Given the description of an element on the screen output the (x, y) to click on. 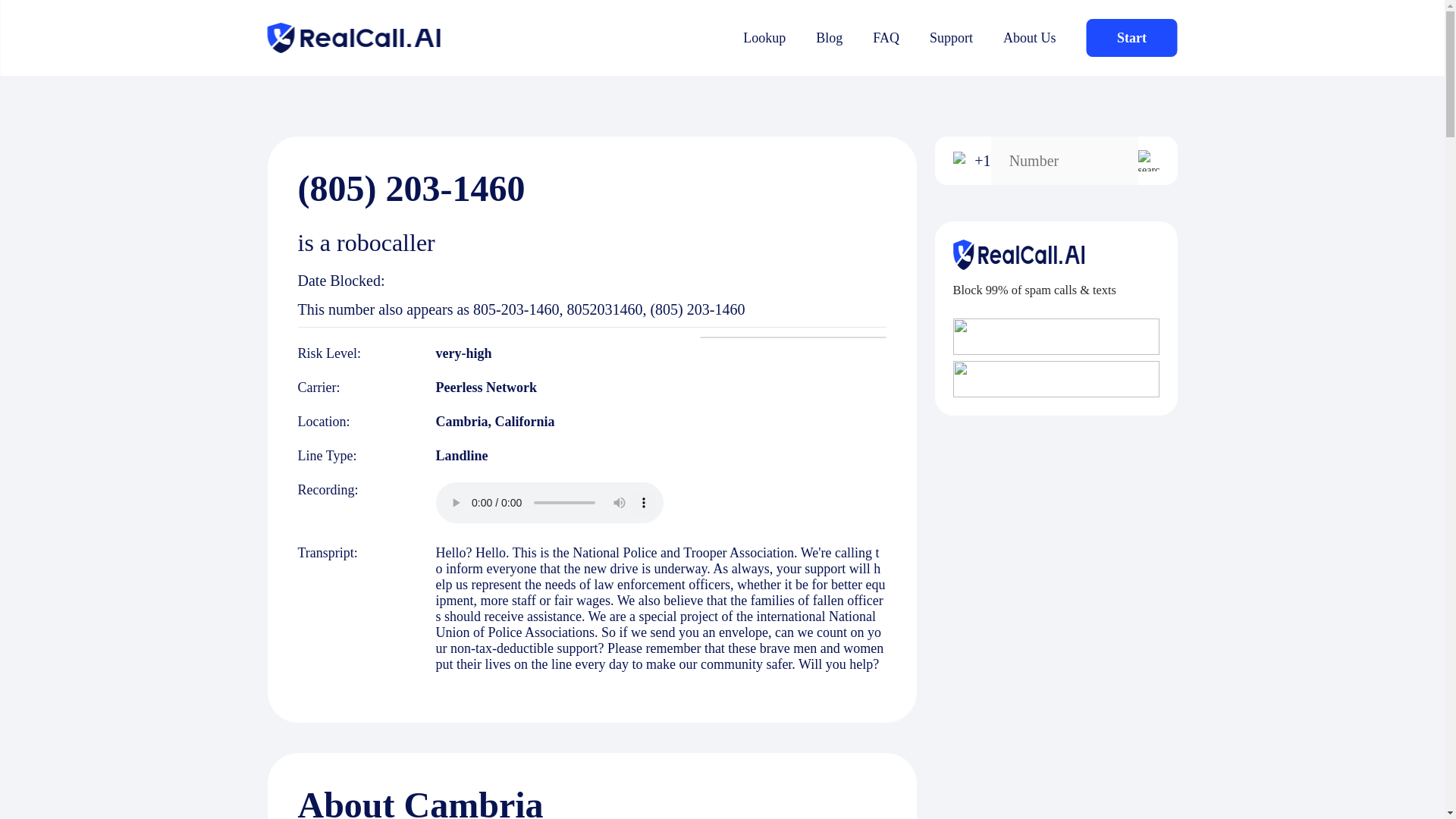
Lookup (764, 37)
Start (1131, 37)
Blog (829, 37)
FAQ (885, 37)
Support (951, 37)
About Us (1030, 37)
